Given the description of an element on the screen output the (x, y) to click on. 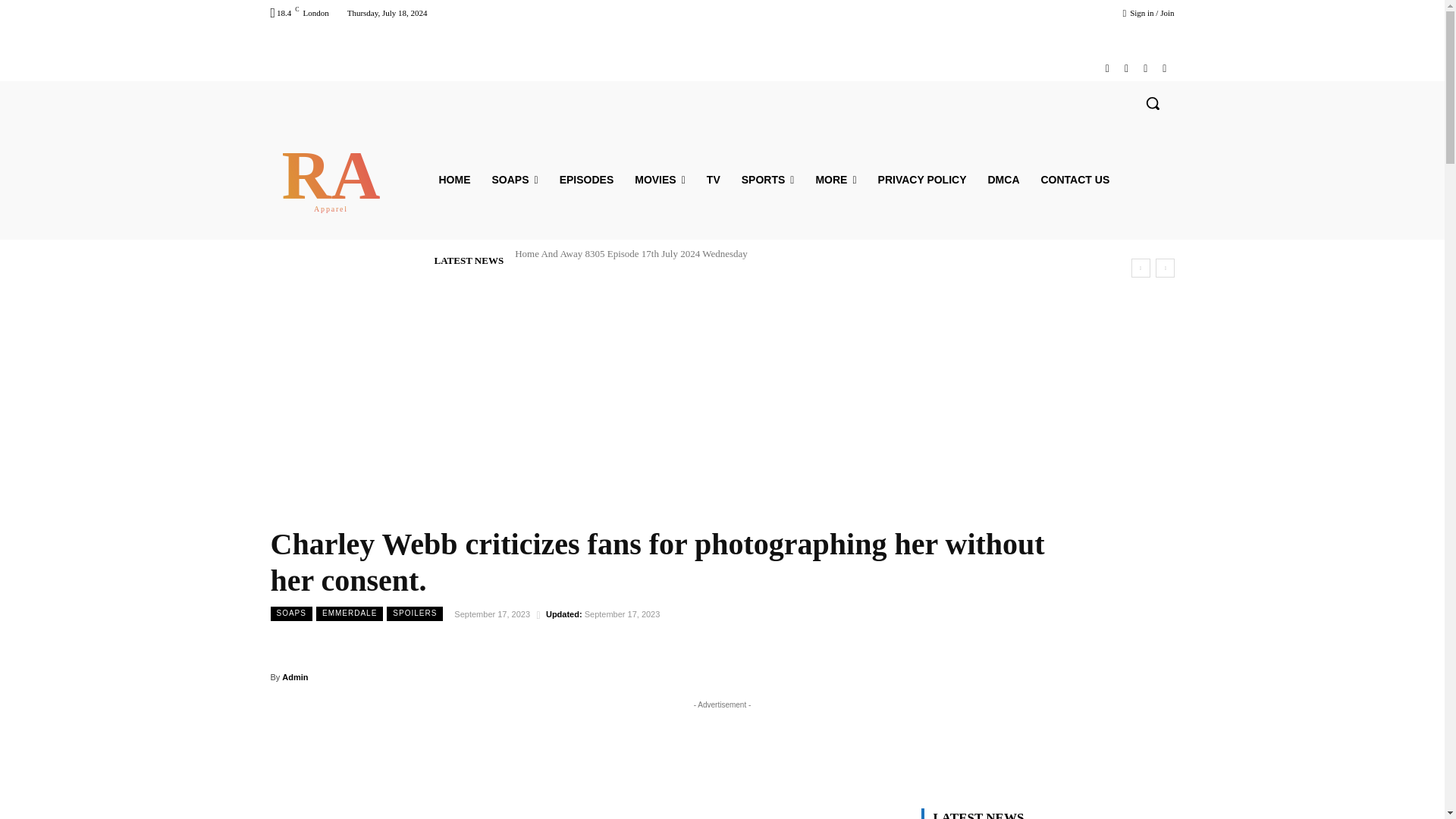
Facebook (1106, 67)
